Given the description of an element on the screen output the (x, y) to click on. 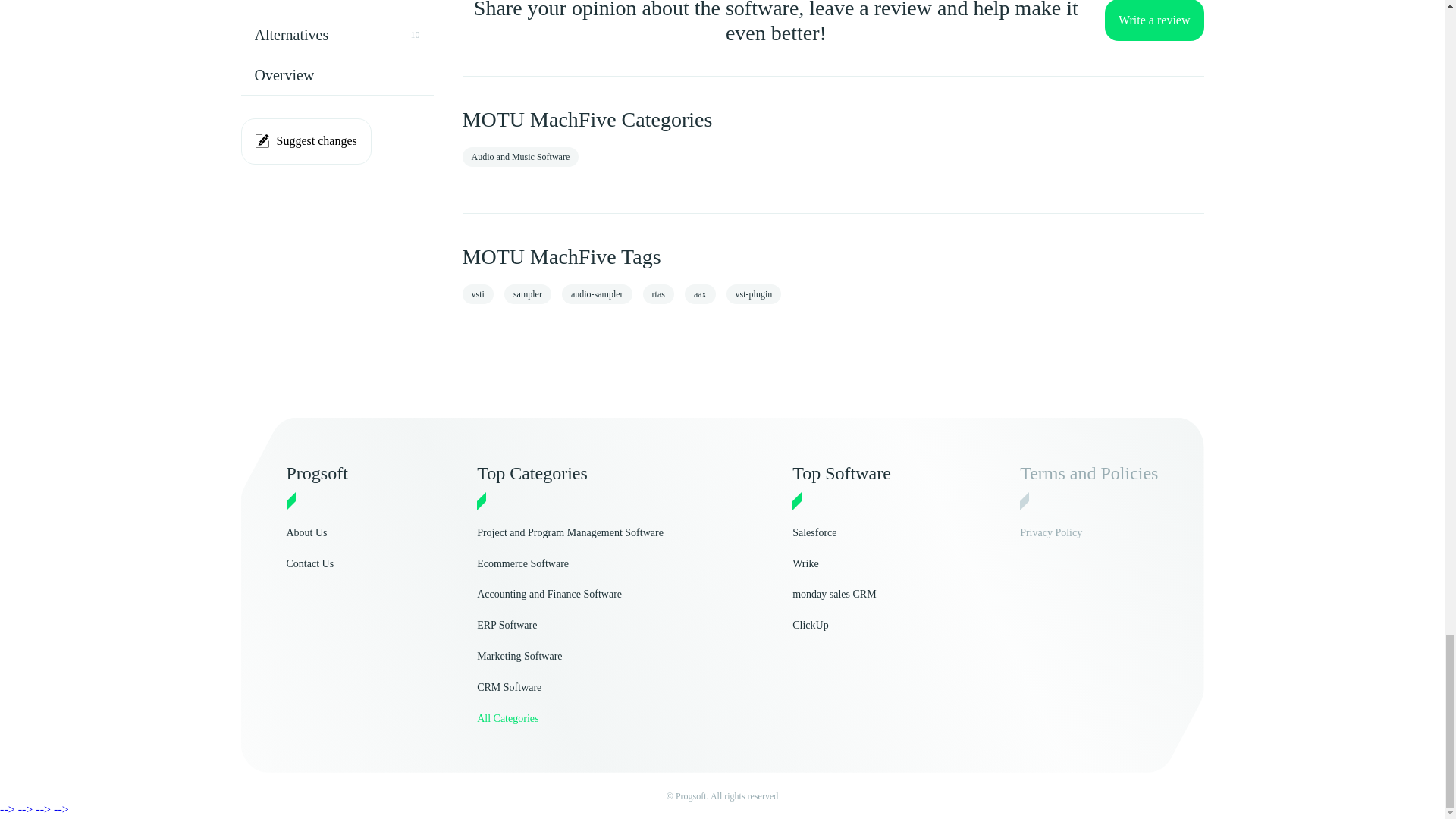
Go to Audio and Music Software (521, 157)
